Given the description of an element on the screen output the (x, y) to click on. 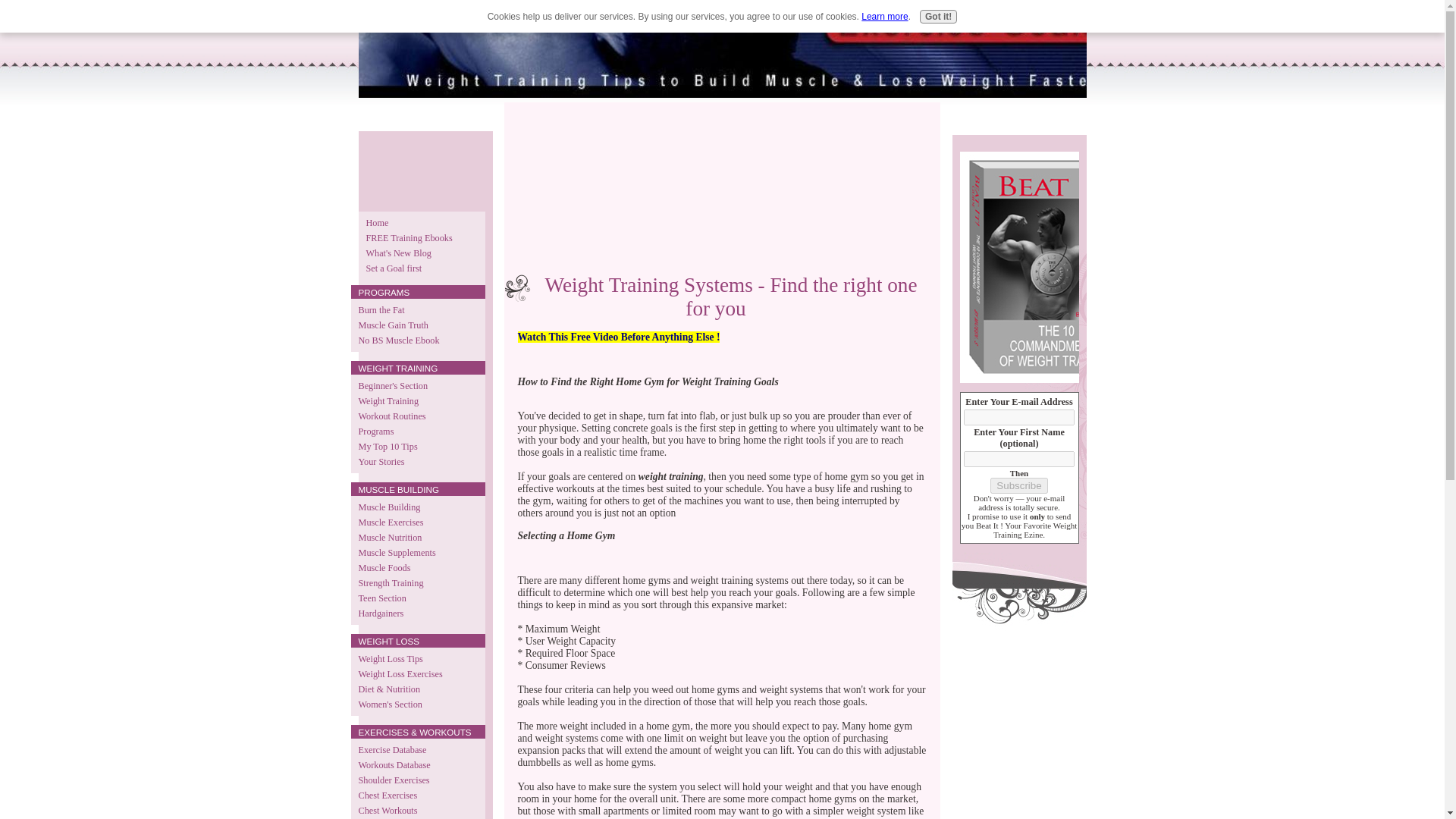
Weight Loss Exercises (417, 673)
Advertisement (592, 189)
Muscle Building (417, 507)
Advertisement (411, 165)
Your Stories (417, 461)
Chest Exercises (417, 795)
What's New Blog (421, 253)
Burn the Fat (417, 309)
My Top 10 Tips (417, 446)
Women's Section (417, 703)
Hardgainers (417, 613)
Shoulder Exercises (417, 780)
Exercise Database (417, 749)
Workouts Database (417, 765)
